Given the description of an element on the screen output the (x, y) to click on. 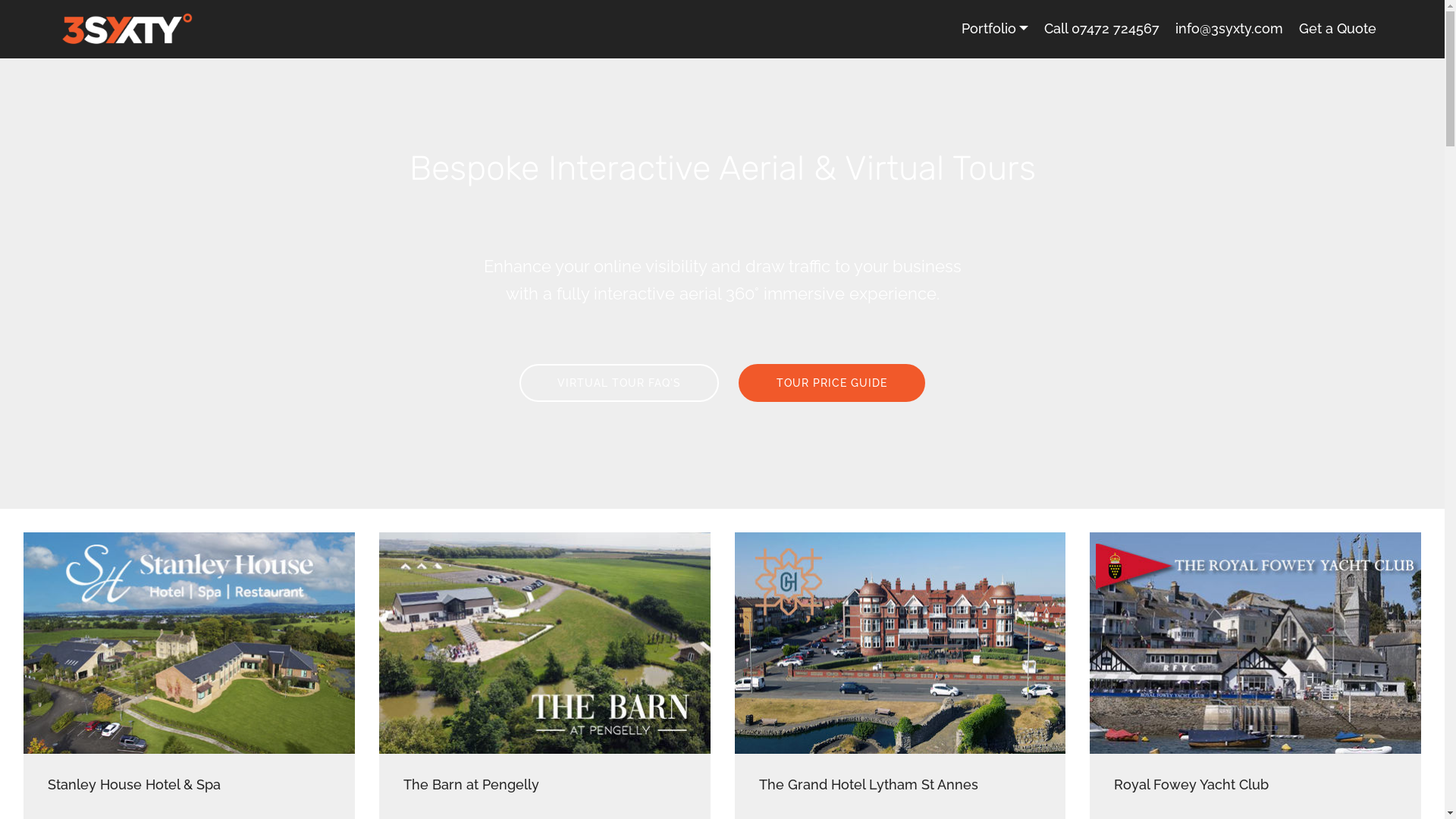
The Grand Hotel Element type: hover (899, 642)
Stanley House Hotel & Spa Element type: hover (188, 642)
Call 07472 724567 Element type: text (1101, 28)
VIRTUAL TOUR FAQ'S Element type: text (618, 382)
Get a Quote Element type: text (1337, 28)
TOUR PRICE GUIDE Element type: text (831, 382)
3SyXTY Element type: hover (126, 29)
Barn at Pengelly Element type: hover (544, 642)
info@3syxty.com Element type: text (1229, 28)
Portfolio Element type: text (994, 28)
Royal Fowey Yacht Club Element type: hover (1255, 642)
